Given the description of an element on the screen output the (x, y) to click on. 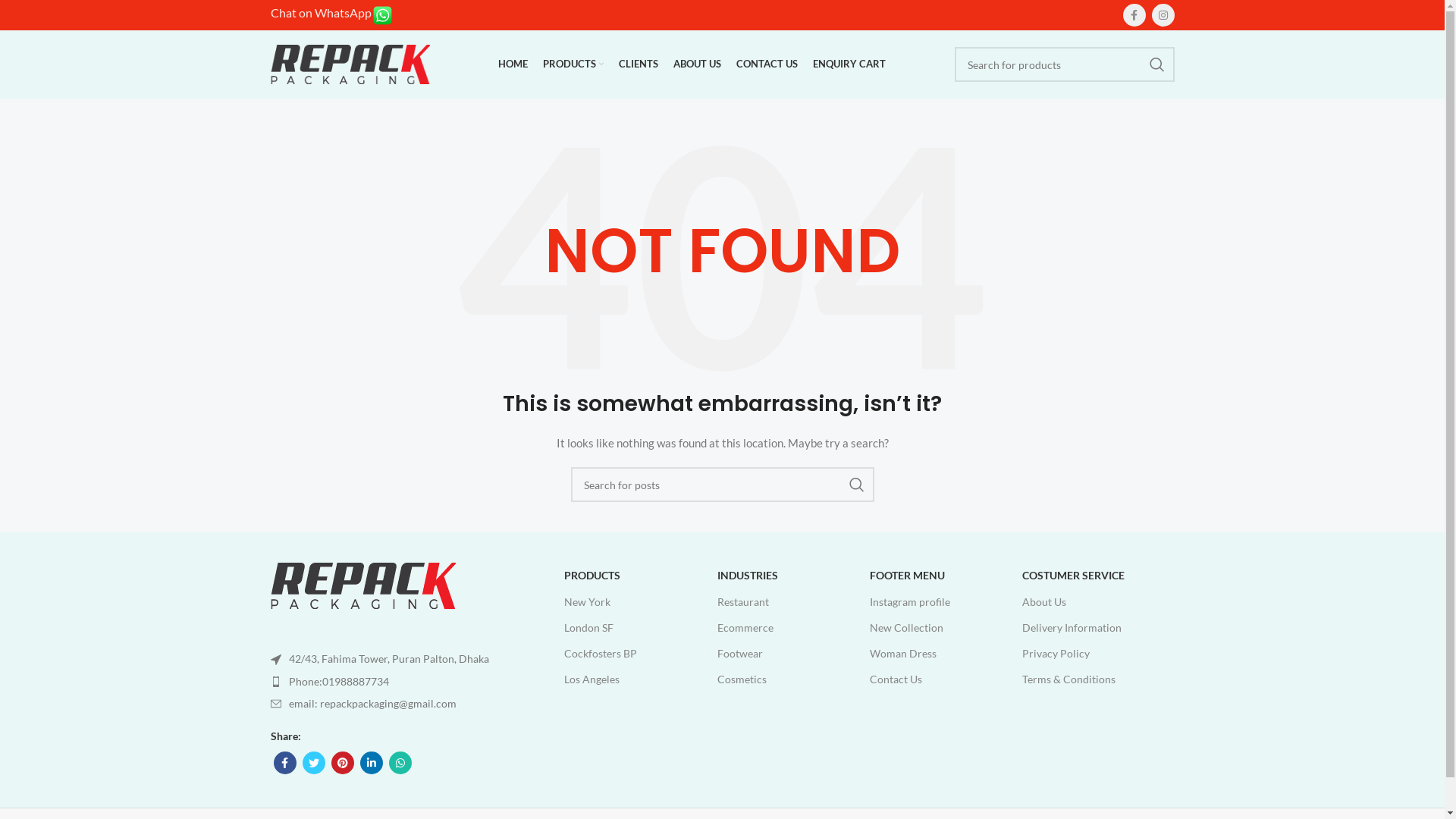
Search for products Element type: hover (1063, 64)
Terms & Conditions Element type: text (1083, 679)
Search for posts Element type: hover (721, 484)
ENQUIRY CART Element type: text (848, 64)
Cosmetics Element type: text (785, 679)
wd-envelope-dark.svg Element type: hover (274, 703)
New Collection Element type: text (938, 627)
Delivery Information Element type: text (1083, 627)
CLIENTS Element type: text (638, 64)
Woman Dress Element type: text (938, 653)
ABOUT US Element type: text (697, 64)
Chat on WhatsApp Element type: text (319, 12)
Footwear Element type: text (785, 653)
SEARCH Element type: text (1156, 64)
Los Angeles Element type: text (632, 679)
PRODUCTS Element type: text (632, 575)
COSTUMER SERVICE Element type: text (1083, 575)
New York Element type: text (632, 602)
Privacy Policy Element type: text (1083, 653)
wd-cursor-dark.svg Element type: hover (274, 659)
wd-phone-dark.svg Element type: hover (274, 681)
CONTACT US Element type: text (766, 64)
Restaurant Element type: text (785, 602)
Ecommerce Element type: text (785, 627)
London SF Element type: text (632, 627)
Instagram profile Element type: text (938, 602)
PRODUCTS Element type: text (572, 64)
Cockfosters BP Element type: text (632, 653)
INDUSTRIES Element type: text (785, 575)
Contact Us Element type: text (938, 679)
FOOTER MENU Element type: text (938, 575)
HOME Element type: text (512, 64)
About Us Element type: text (1083, 602)
SEARCH Element type: text (855, 484)
